Given the description of an element on the screen output the (x, y) to click on. 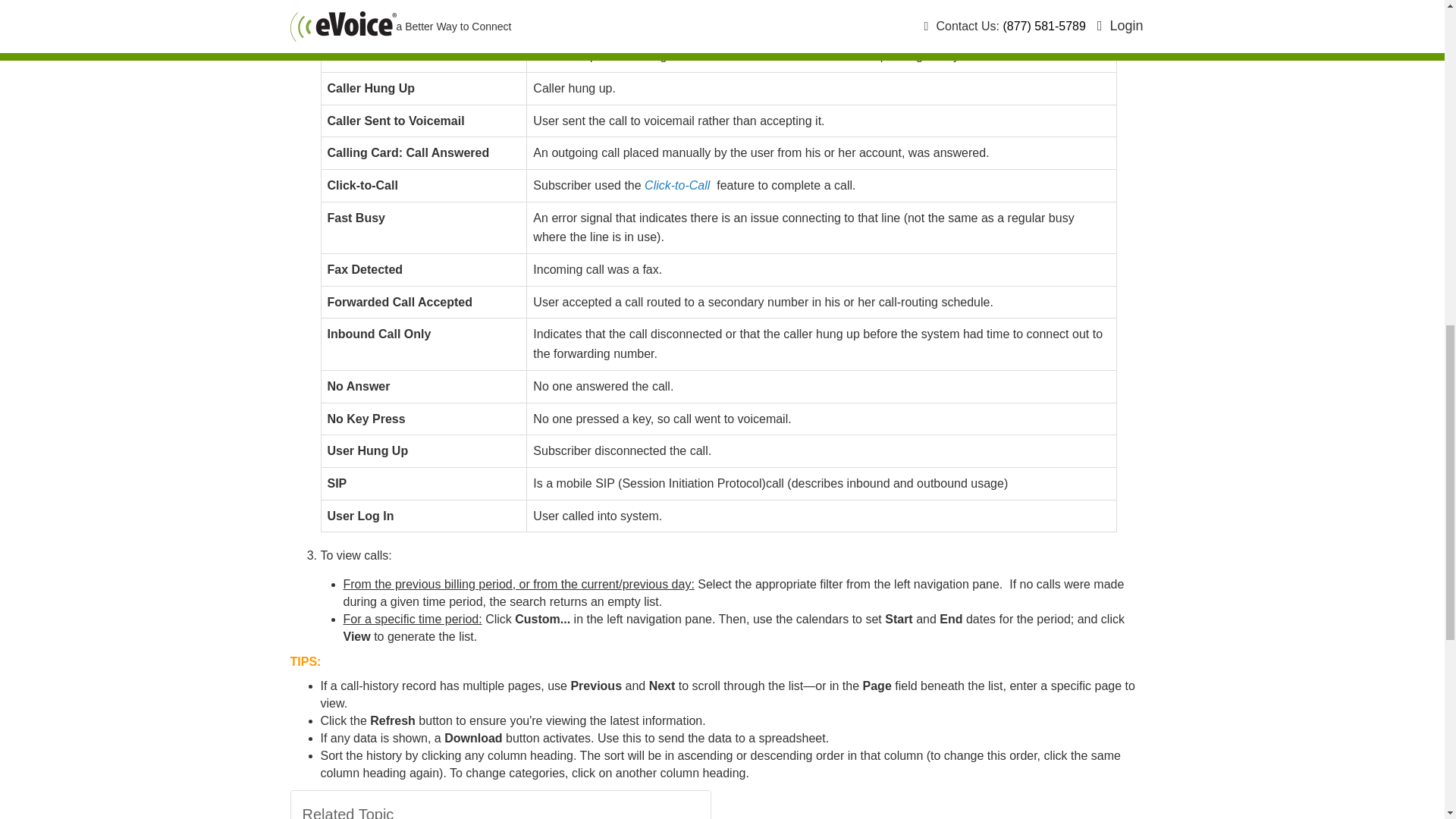
Click-to-Call (677, 185)
